Given the description of an element on the screen output the (x, y) to click on. 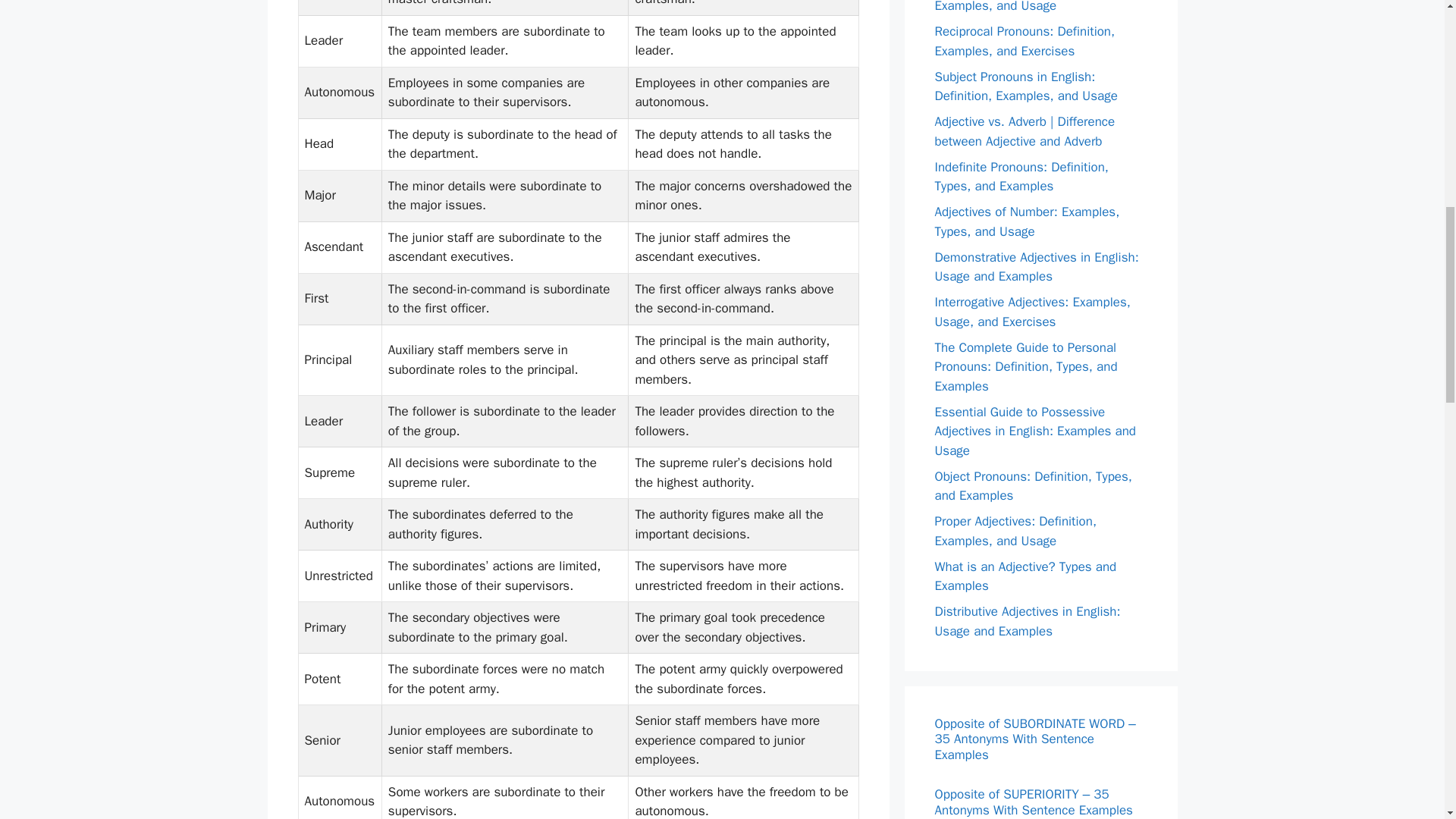
Object Pronouns: Definition, Types, and Examples (1032, 486)
Interrogative Adjectives: Examples, Usage, and Exercises (1031, 312)
Subject Pronouns in English: Definition, Examples, and Usage (1025, 85)
Demonstrative Adjectives in English: Usage and Examples (1036, 266)
Reciprocal Pronouns: Definition, Examples, and Exercises (1024, 40)
Distributive Pronouns: Types, Examples, and Usage (1015, 7)
Adjectives of Number: Examples, Types, and Usage (1026, 221)
Indefinite Pronouns: Definition, Types, and Examples (1021, 176)
